Given the description of an element on the screen output the (x, y) to click on. 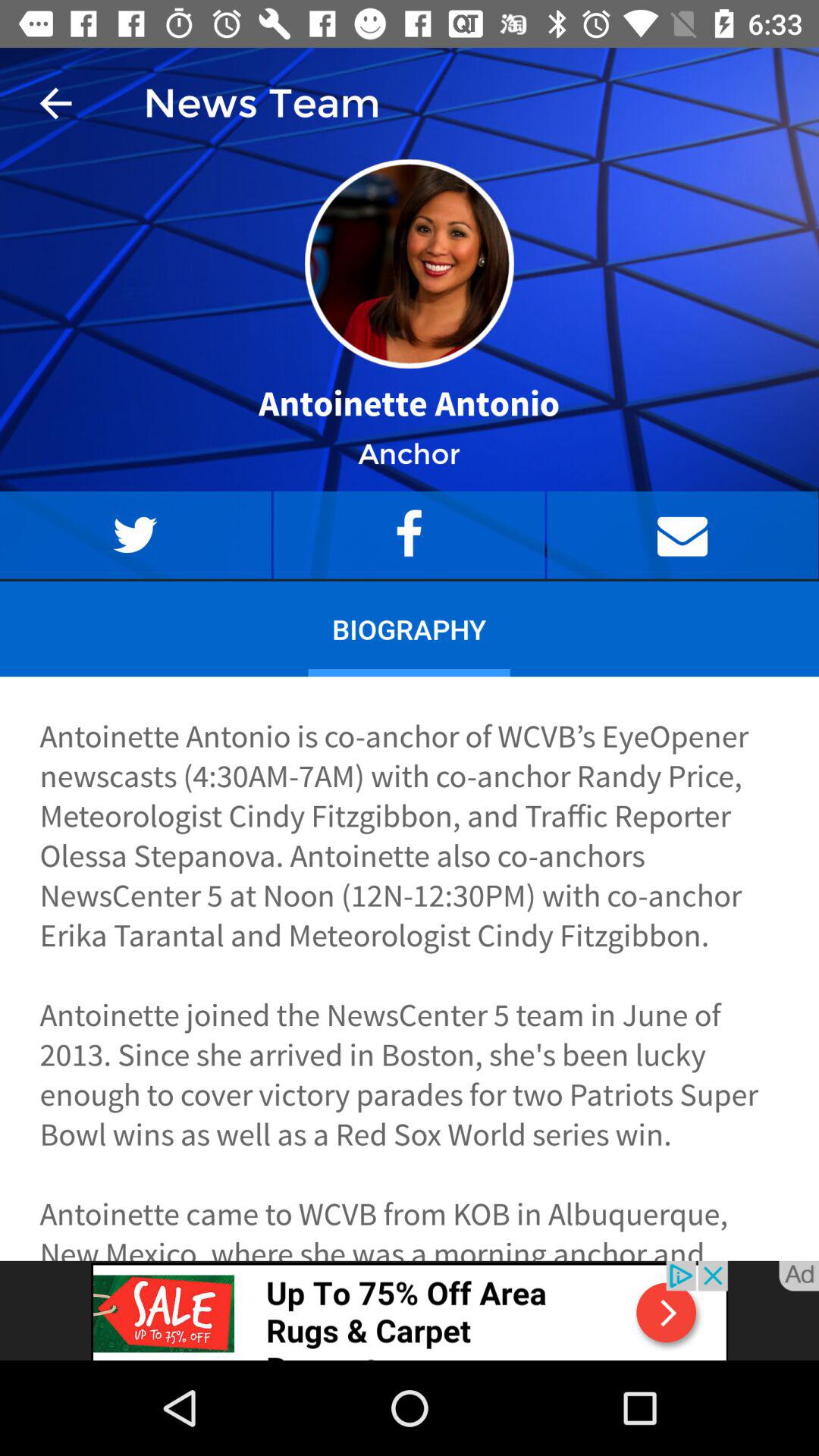
advertisement adding button (409, 1310)
